Given the description of an element on the screen output the (x, y) to click on. 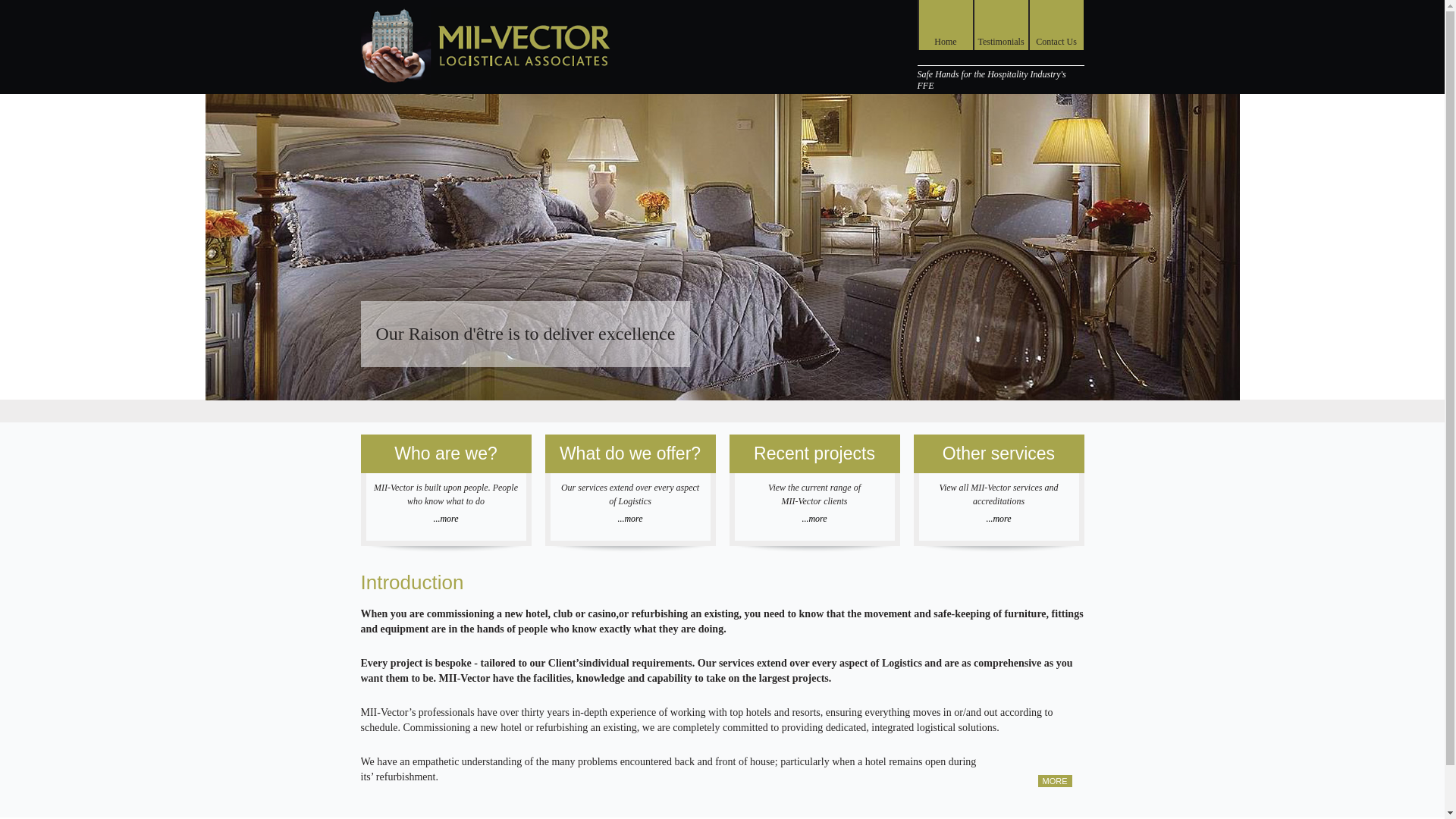
...more (445, 518)
...more (998, 518)
MORE (1053, 780)
Who are we? (445, 453)
Contact Us (1055, 24)
Recent projects (814, 453)
...more (813, 518)
Testimonials (999, 24)
...more (630, 518)
Other services (998, 453)
What do we offer? (629, 453)
Home (944, 24)
